Given the description of an element on the screen output the (x, y) to click on. 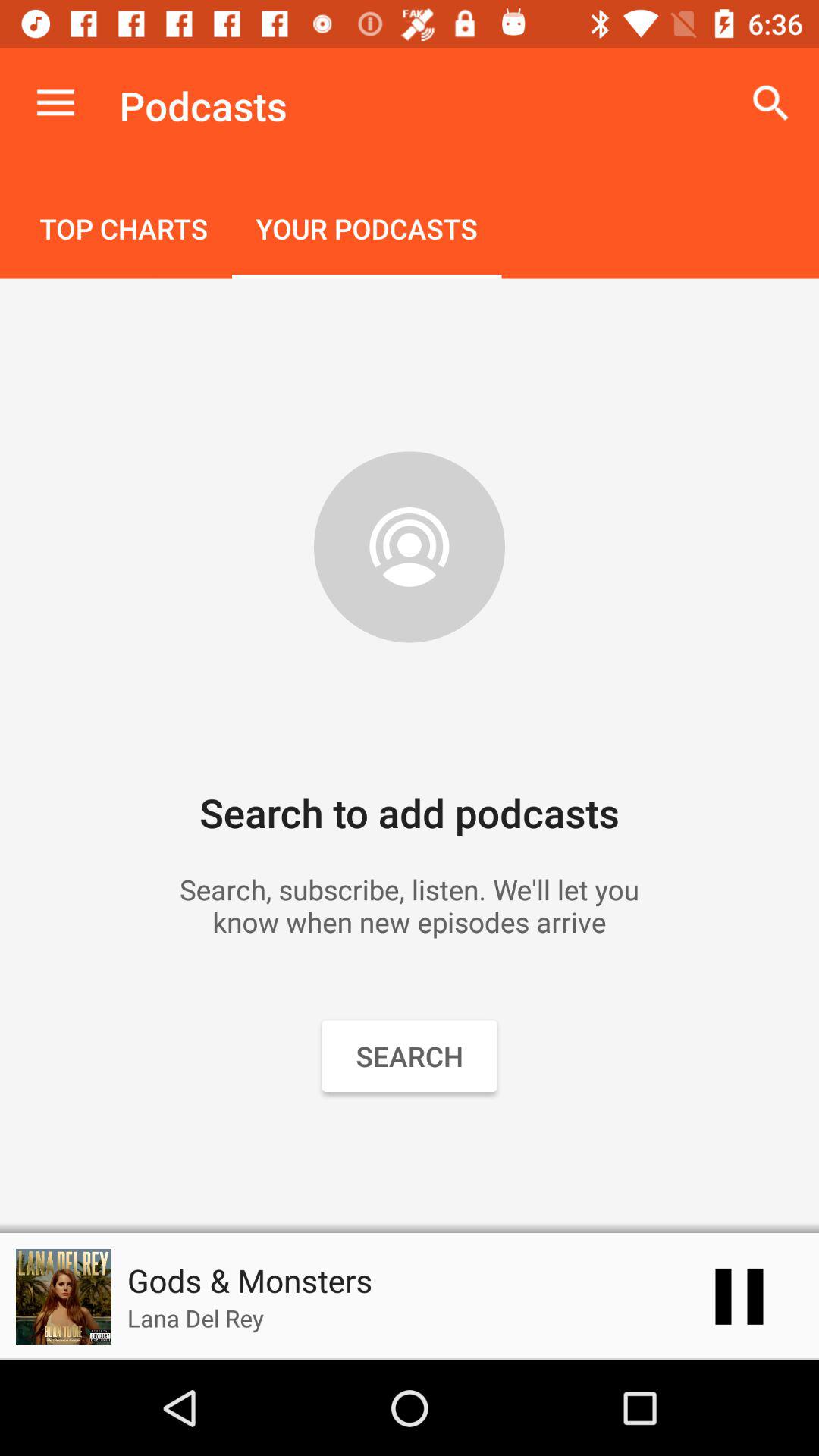
turn off the icon above search to add (123, 230)
